Given the description of an element on the screen output the (x, y) to click on. 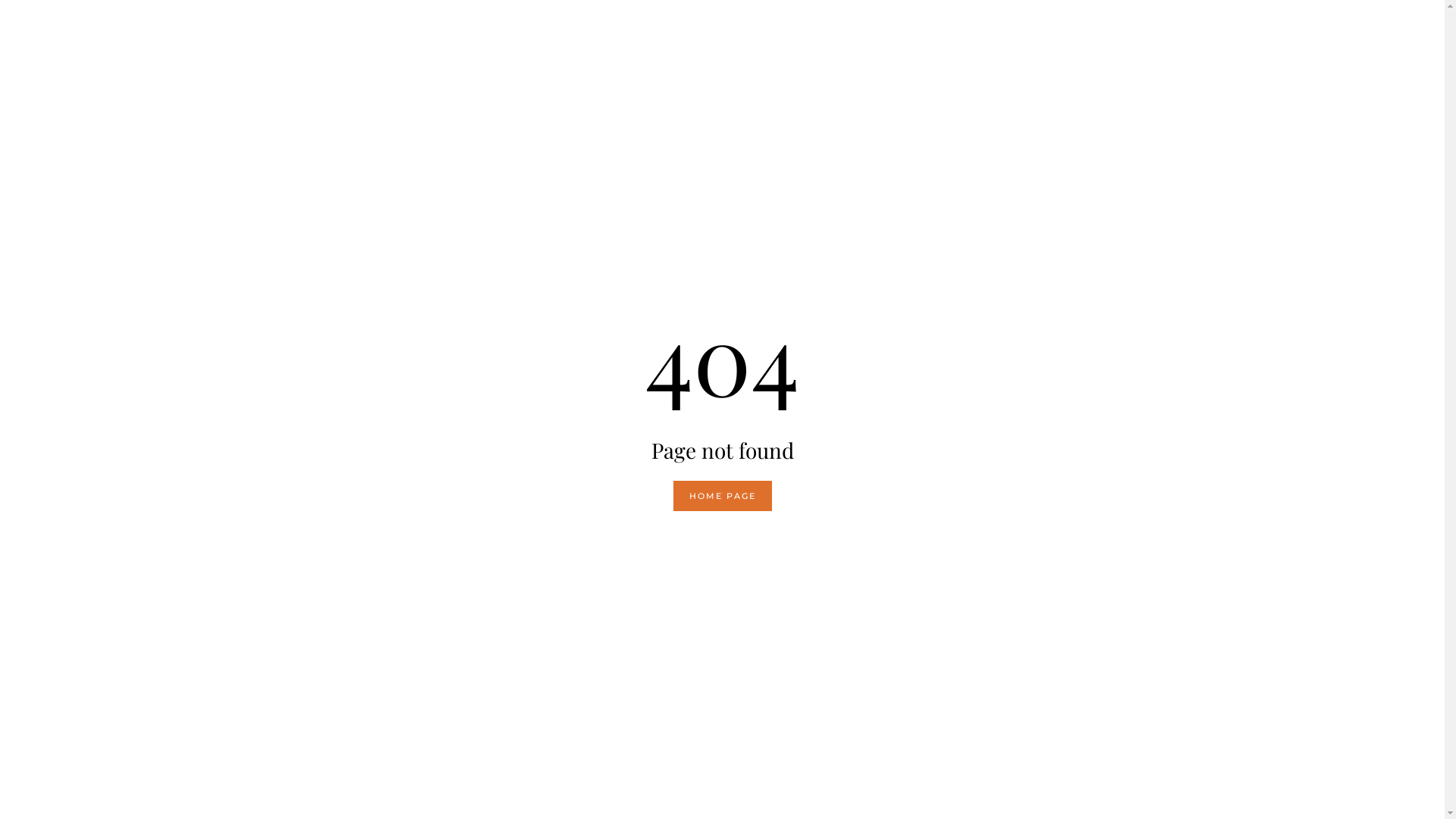
HOME PAGE Element type: text (722, 495)
